Given the description of an element on the screen output the (x, y) to click on. 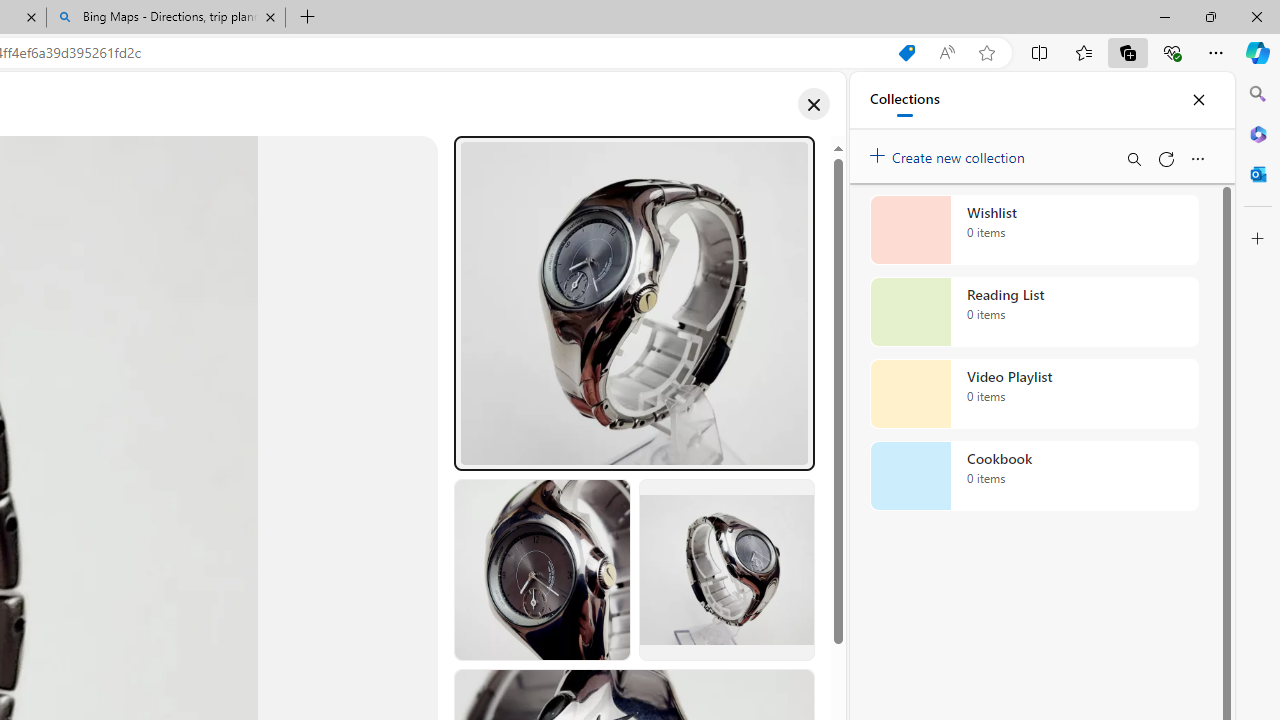
Reading List collection, 0 items (1034, 312)
More options menu (1197, 158)
